Given the description of an element on the screen output the (x, y) to click on. 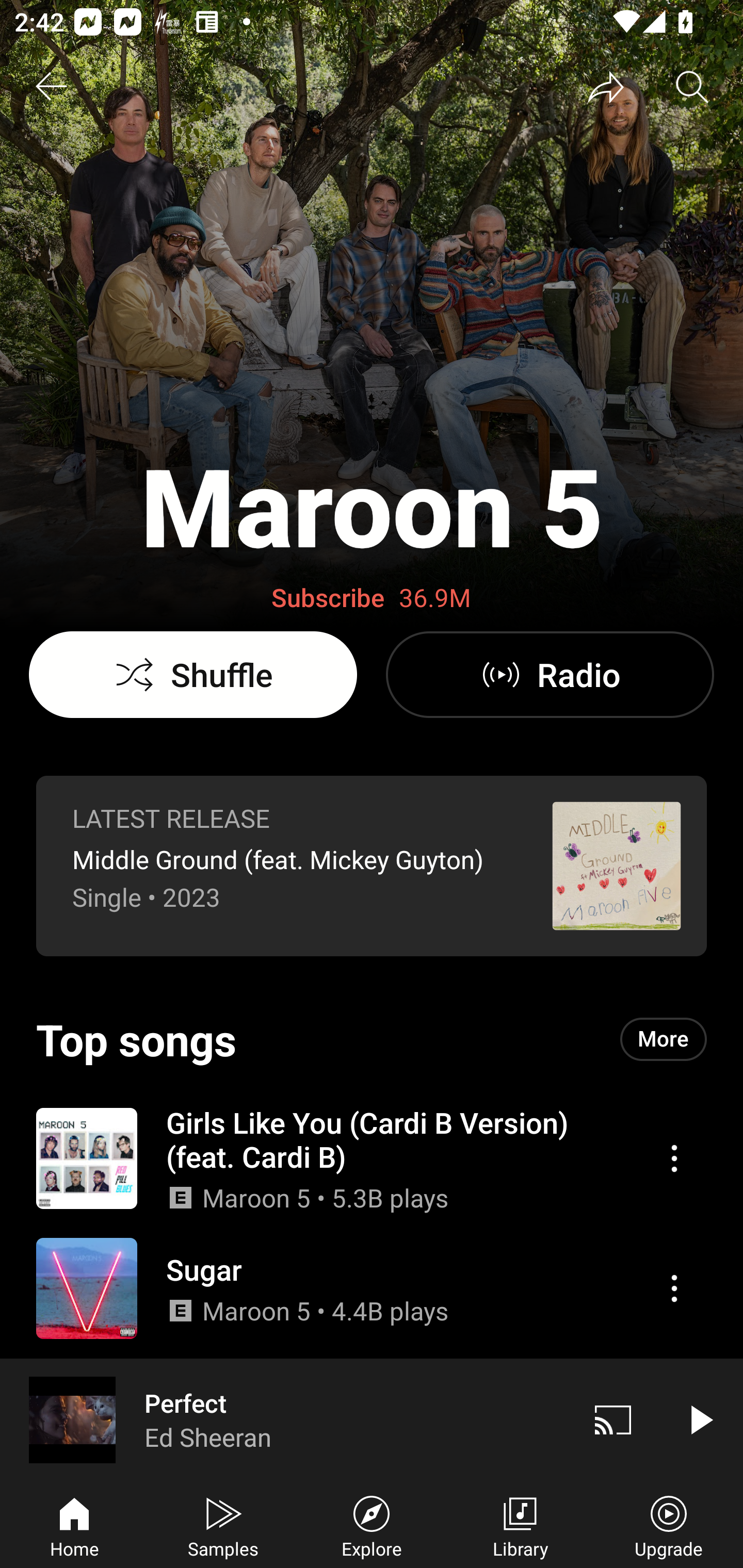
Back (50, 86)
Share (605, 86)
Search (692, 86)
Subscribe 36.9M (371, 598)
Shuffle (192, 674)
Radio (549, 674)
Action menu (371, 1157)
Action menu (673, 1158)
Action menu (371, 1288)
Action menu (673, 1288)
Perfect Ed Sheeran (284, 1419)
Cast. Disconnected (612, 1419)
Play video (699, 1419)
Home (74, 1524)
Samples (222, 1524)
Explore (371, 1524)
Library (519, 1524)
Upgrade (668, 1524)
